Given the description of an element on the screen output the (x, y) to click on. 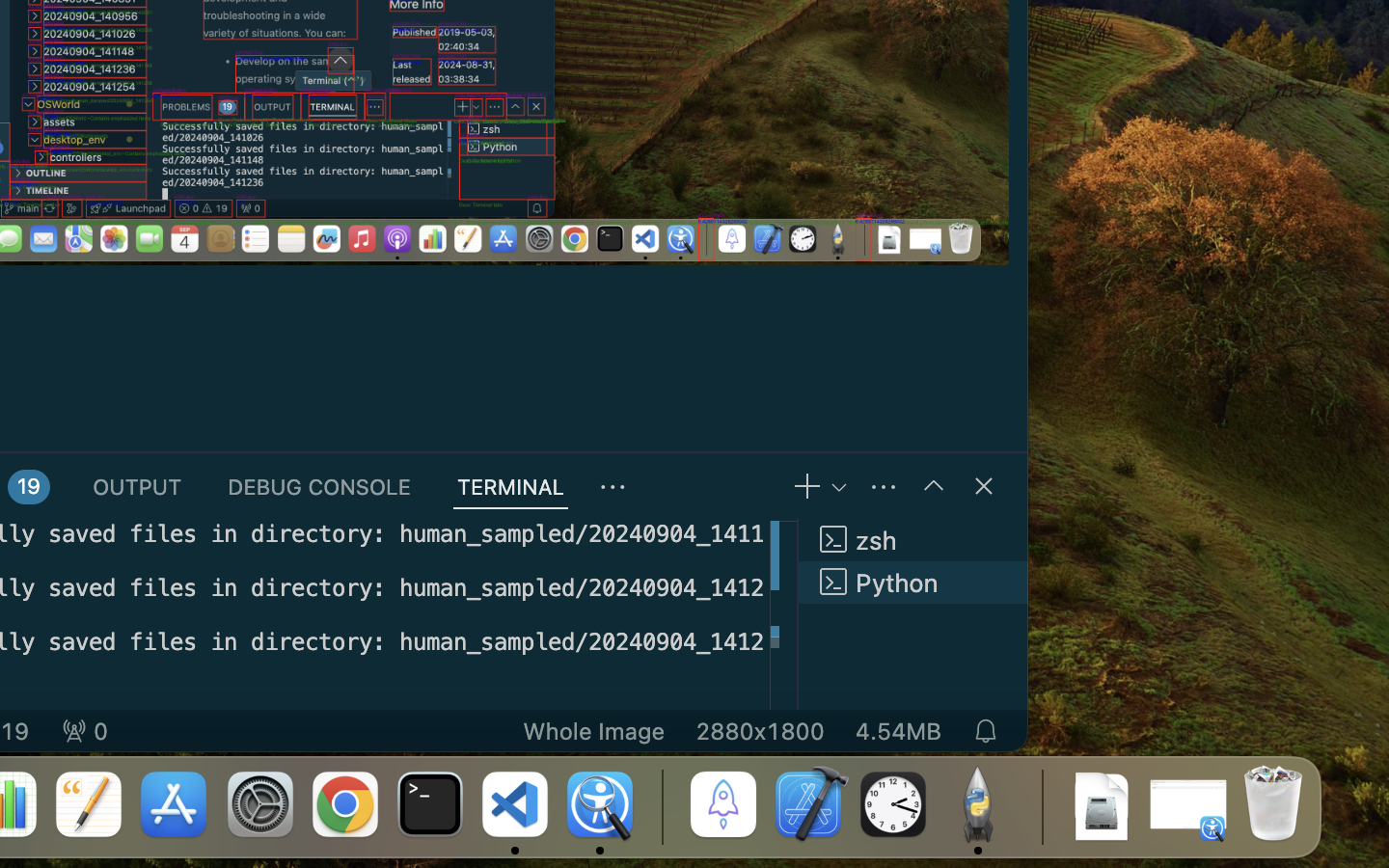
 0 Element type: AXButton (84, 730)
1 TERMINAL Element type: AXRadioButton (511, 485)
 Element type: AXButton (983, 485)
Python  Element type: AXGroup (913, 582)
0.4285714328289032 Element type: AXDockItem (660, 805)
